Given the description of an element on the screen output the (x, y) to click on. 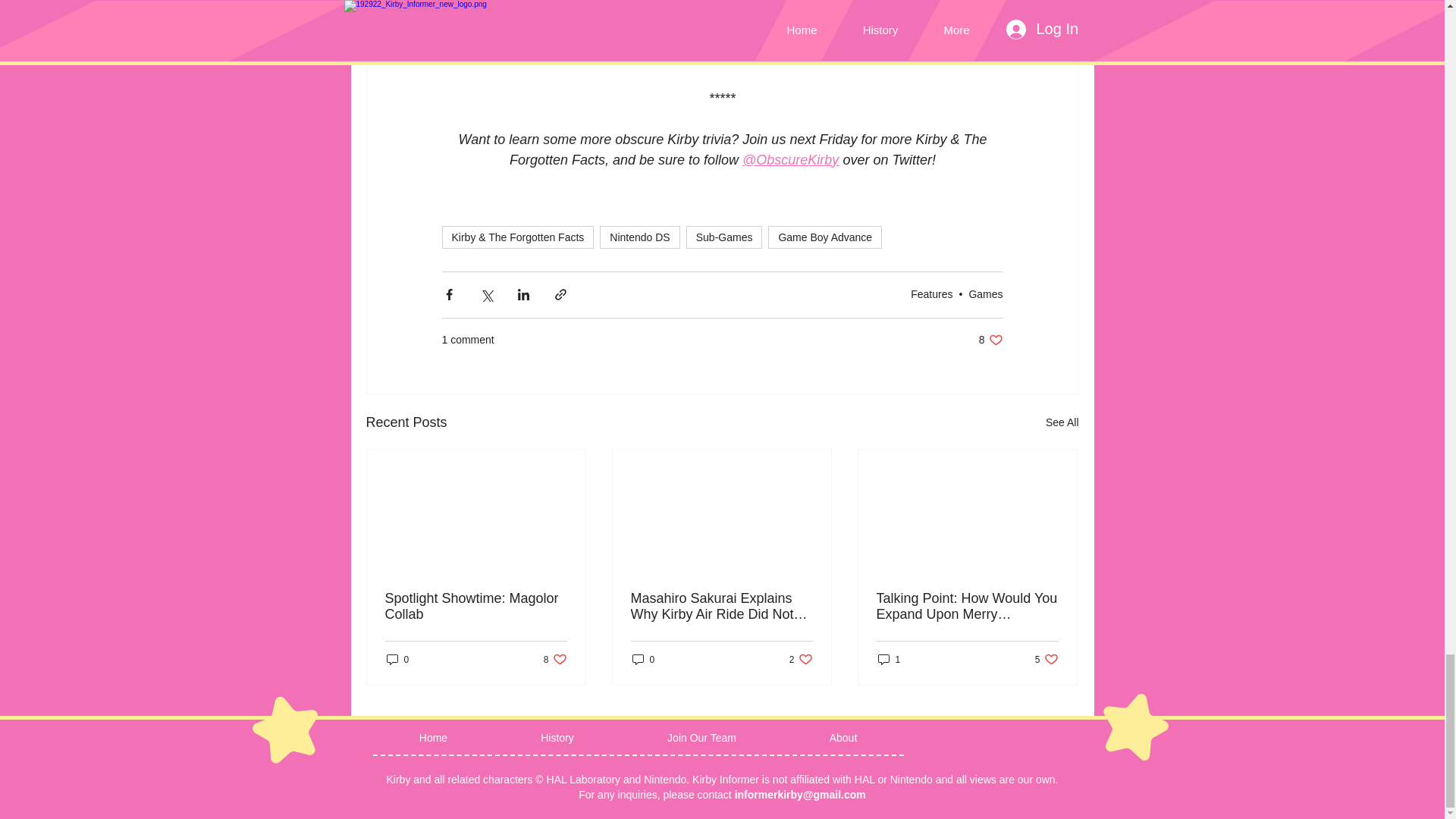
See All (1061, 422)
Features (990, 339)
Quick Draw (931, 294)
0 (878, 37)
Game Boy Advance (1046, 658)
Games (643, 658)
Join Our Team (825, 237)
